Given the description of an element on the screen output the (x, y) to click on. 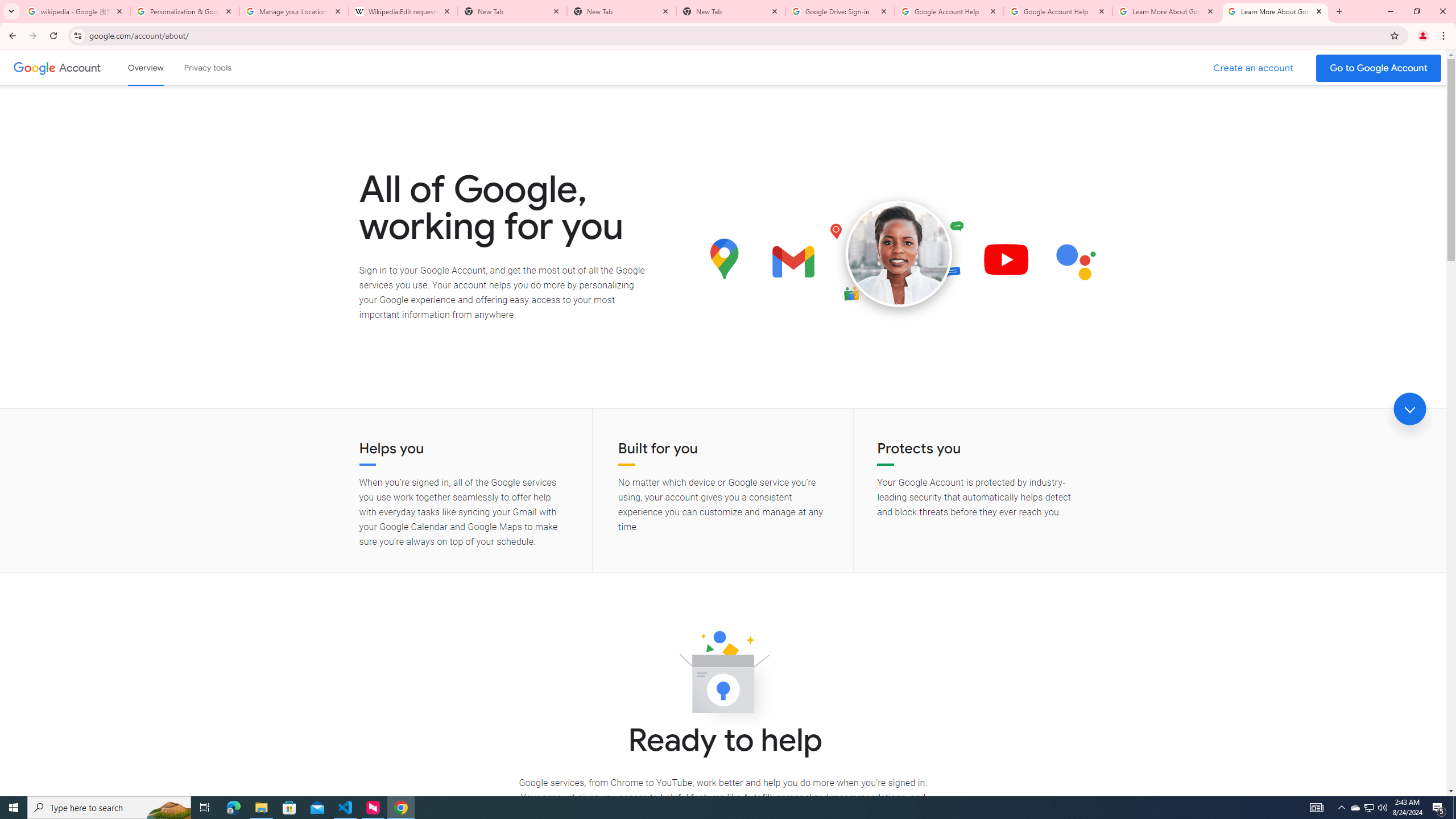
Google Drive: Sign-in (839, 11)
Address and search bar (735, 35)
Google Account overview (145, 67)
Go to your Google Account (1378, 67)
Google Account (80, 67)
Google logo (34, 67)
New Tab (621, 11)
